Given the description of an element on the screen output the (x, y) to click on. 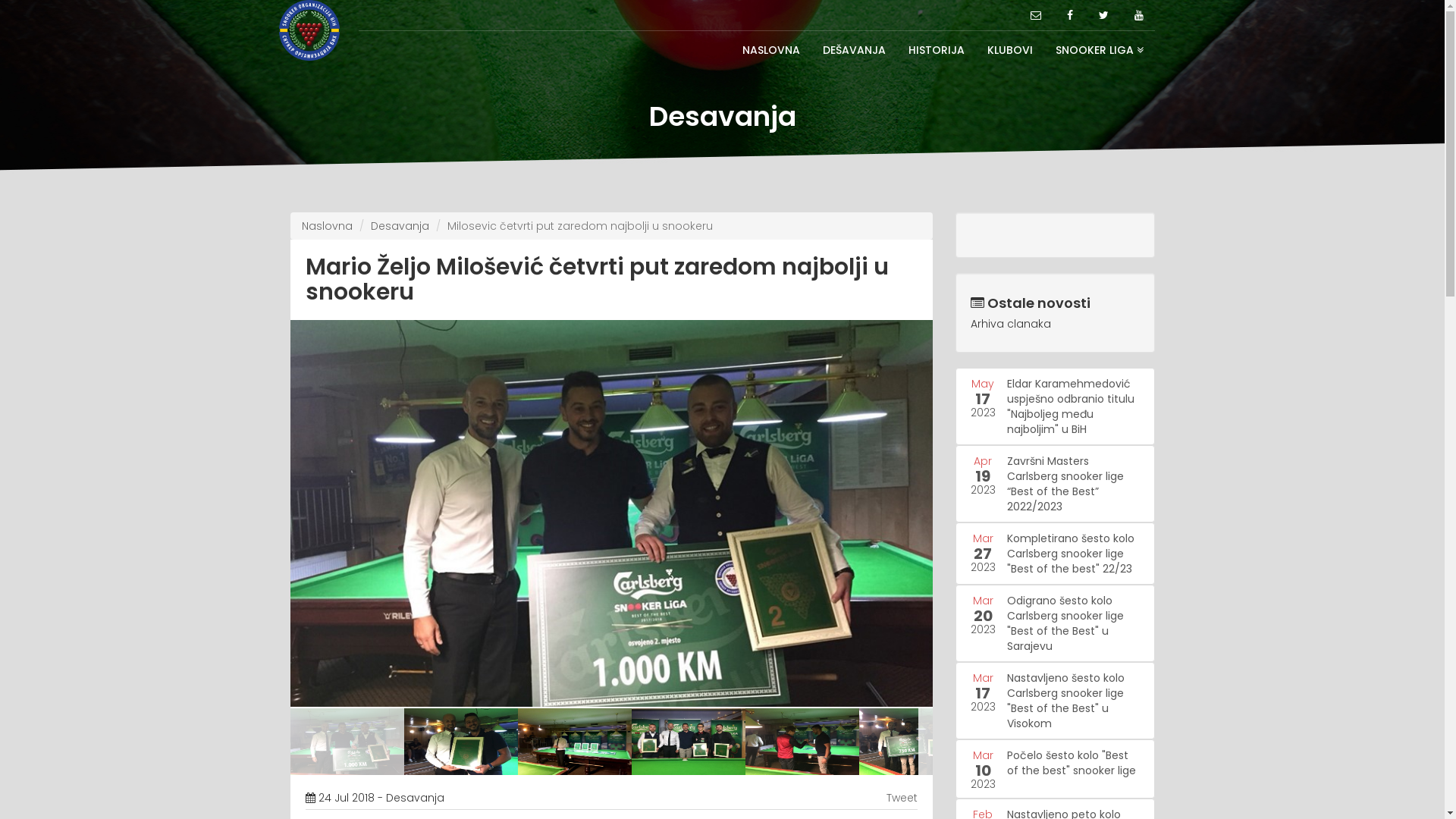
HISTORIJA Element type: text (935, 50)
Tweet Element type: text (901, 797)
NASLOVNA Element type: text (771, 50)
SNOOKER LIGA Element type: text (1098, 50)
KLUBOVI Element type: text (1009, 50)
Naslovna Element type: text (326, 225)
Desavanja Element type: text (399, 225)
